Given the description of an element on the screen output the (x, y) to click on. 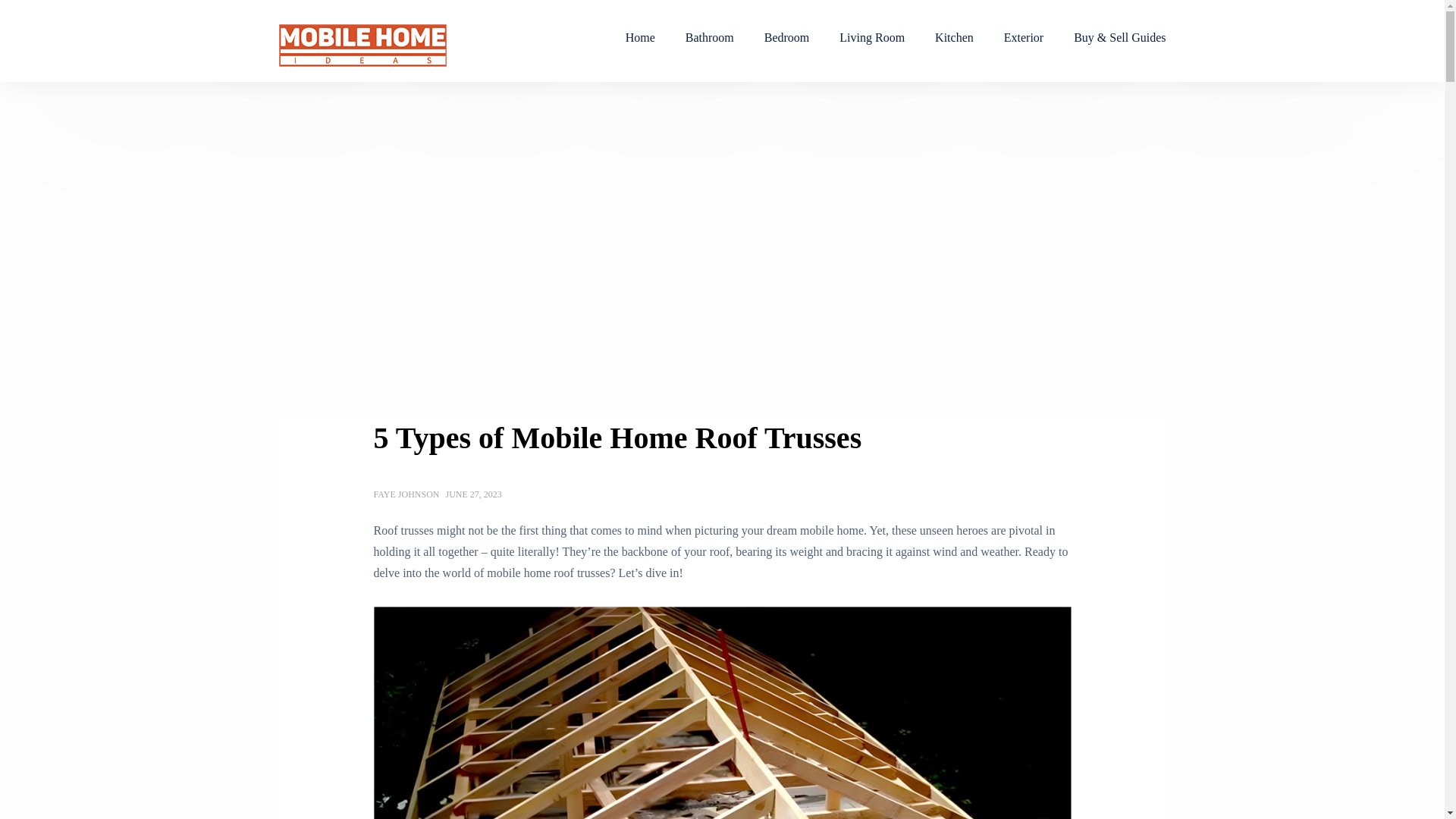
Exterior (1023, 37)
Home (639, 37)
FAYE JOHNSON (405, 493)
Bathroom (709, 37)
Living Room (872, 37)
Posts by Faye Johnson (405, 493)
Kitchen (954, 37)
Bedroom (787, 37)
